Given the description of an element on the screen output the (x, y) to click on. 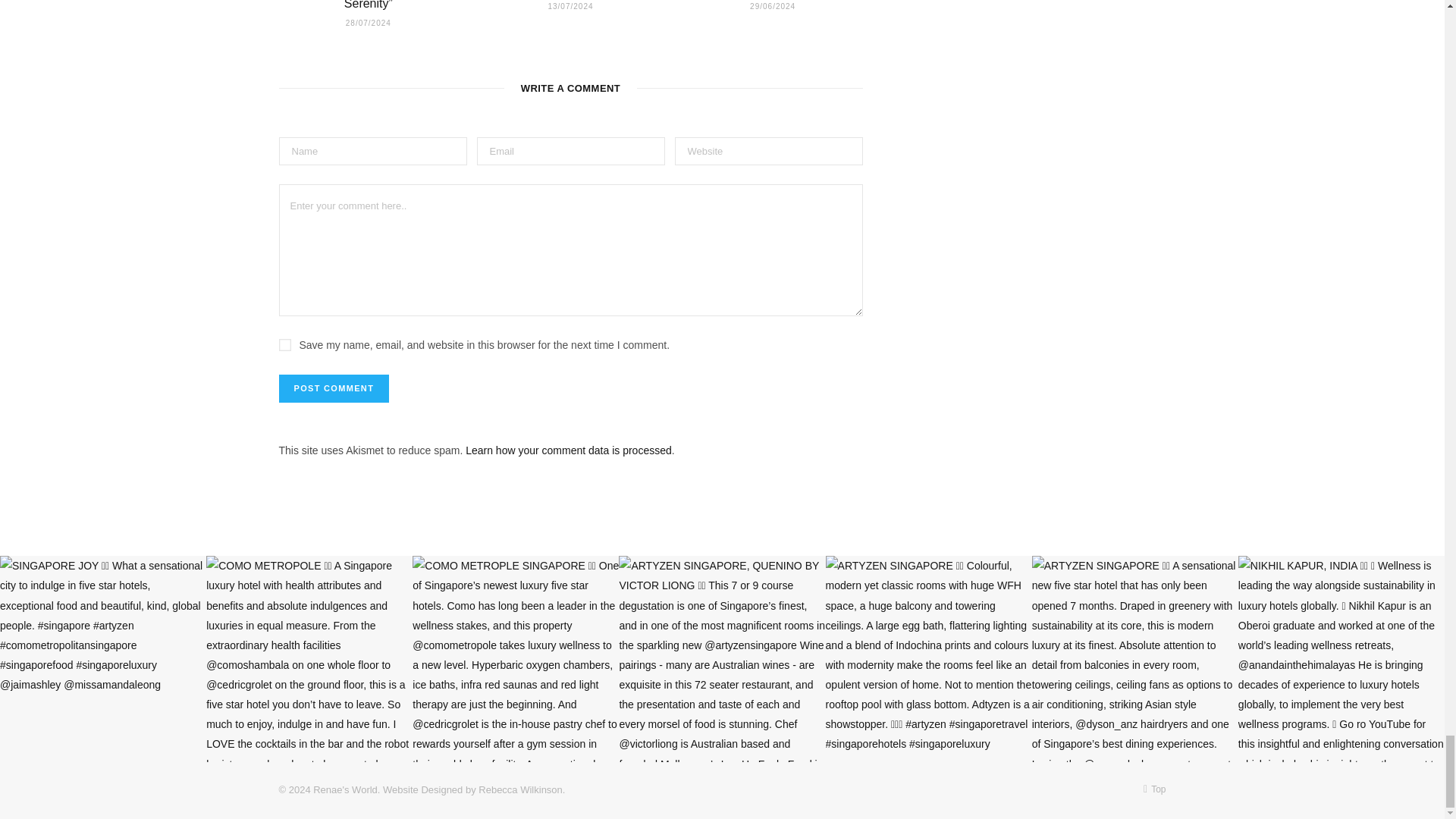
Post Comment (334, 388)
yes (285, 345)
